Given the description of an element on the screen output the (x, y) to click on. 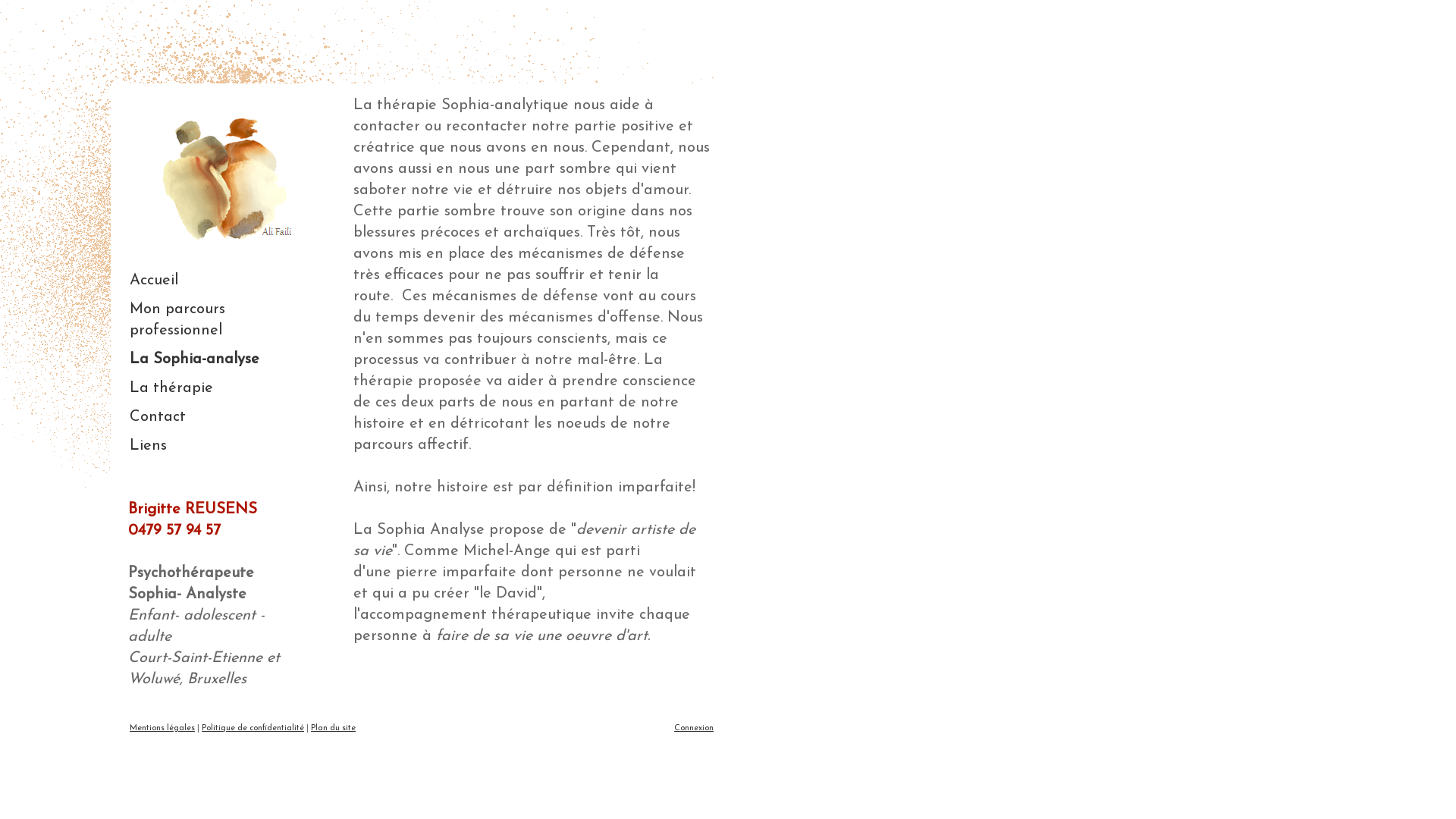
Contact Element type: text (215, 416)
La Sophia-analyse Element type: text (215, 359)
Plan du site Element type: text (332, 728)
Connexion Element type: text (693, 728)
Accueil Element type: text (215, 280)
Liens Element type: text (215, 445)
Mon parcours professionnel Element type: text (215, 319)
